Given the description of an element on the screen output the (x, y) to click on. 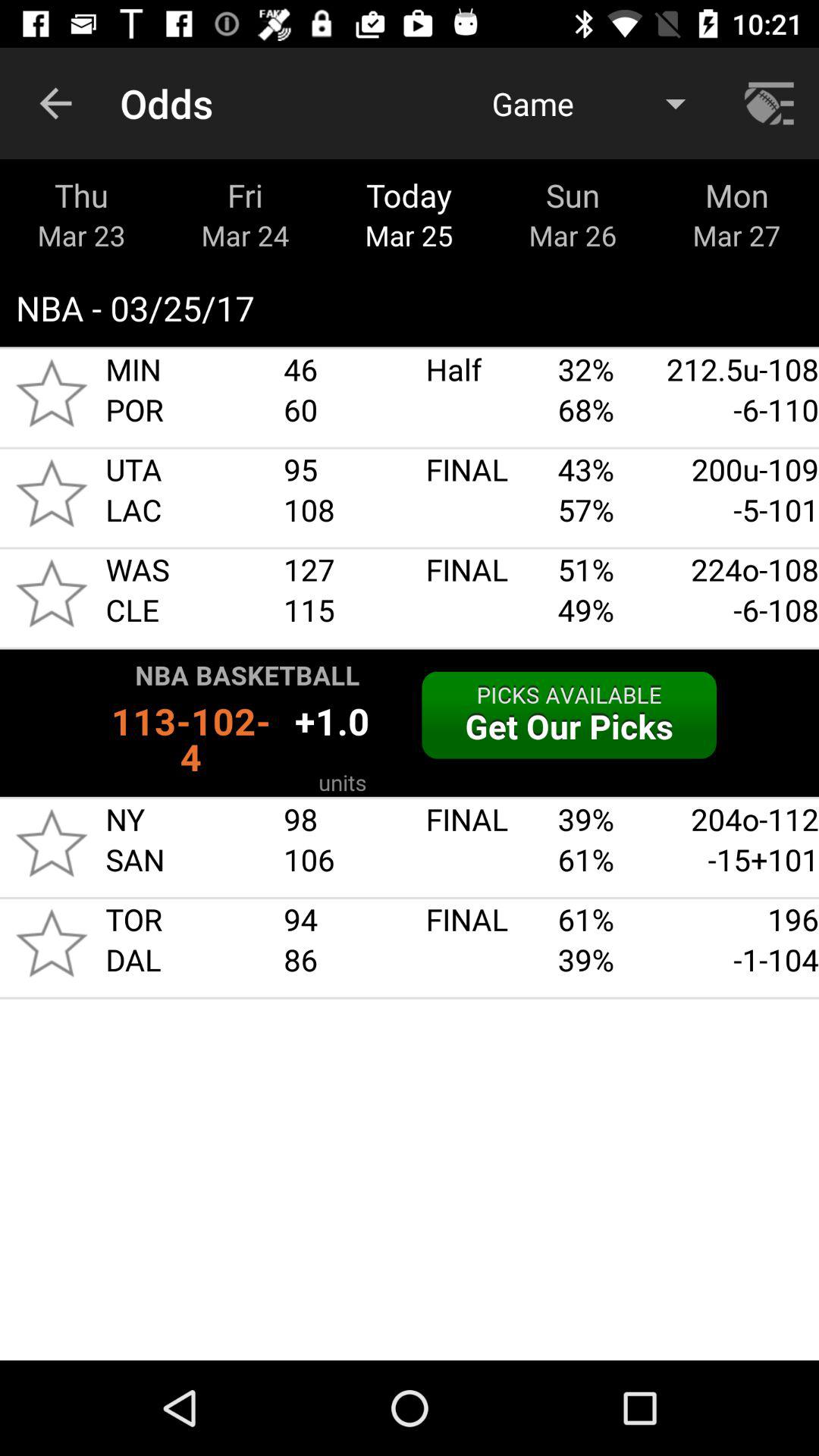
add bookmark (51, 492)
